Given the description of an element on the screen output the (x, y) to click on. 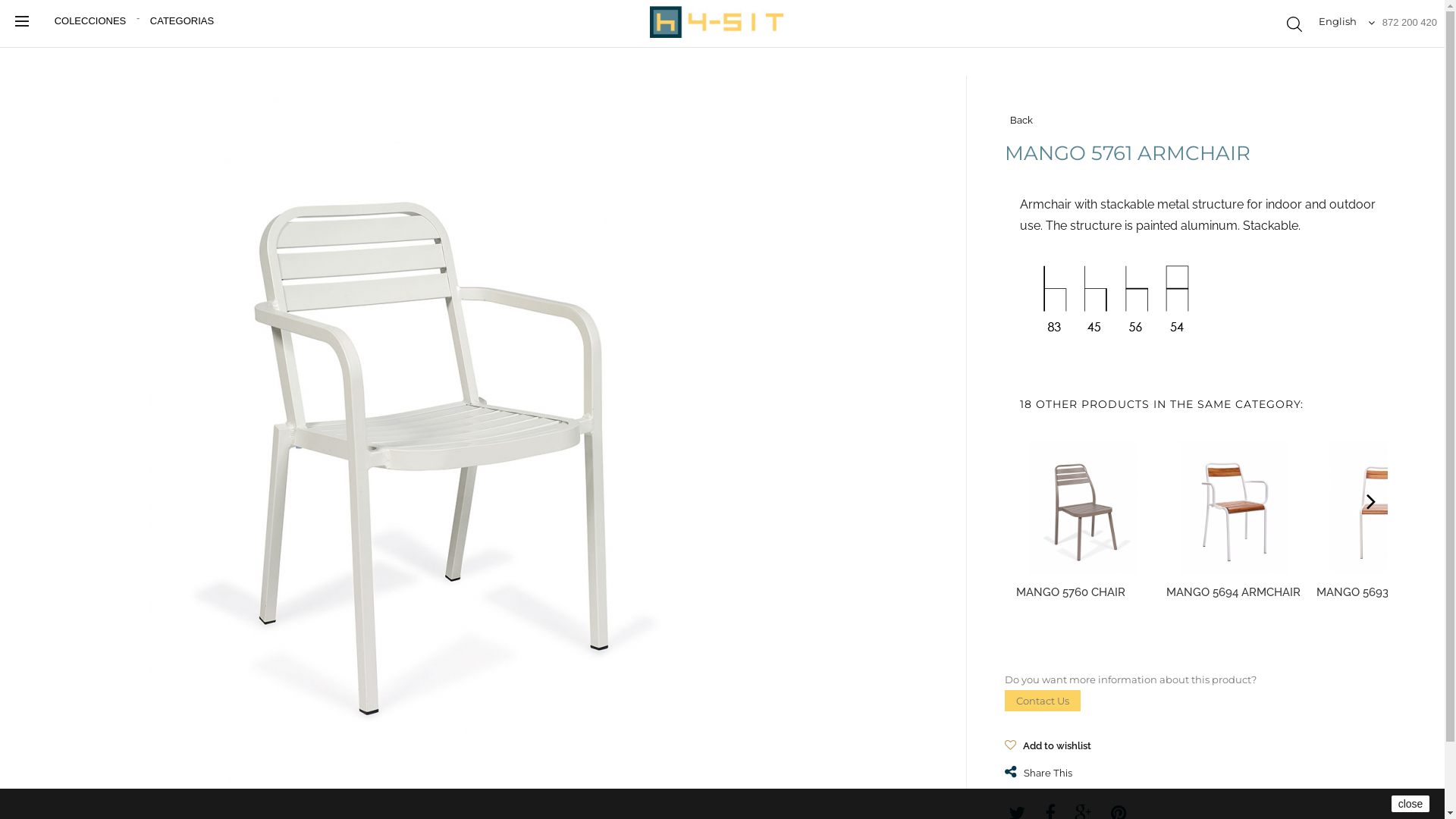
MANGO 5693 CHAIR Element type: hover (1383, 506)
MANGO 5761 ARMCHAIR Element type: hover (434, 432)
MANGO 5760 CHAIR Element type: text (1070, 592)
MANGO 5693 CHAIR Element type: text (1370, 592)
Back Element type: text (1201, 120)
MANGO 5694 ARMCHAIR Element type: hover (1233, 506)
Contact Us Element type: text (1042, 700)
4sit Element type: hover (716, 21)
Add to wishlist Element type: text (1047, 745)
872 200 420 Element type: text (1409, 22)
MANGO 5760 CHAIR Element type: hover (1083, 506)
MANGO 5694 ARMCHAIR Element type: text (1233, 592)
close Element type: text (1410, 803)
